Given the description of an element on the screen output the (x, y) to click on. 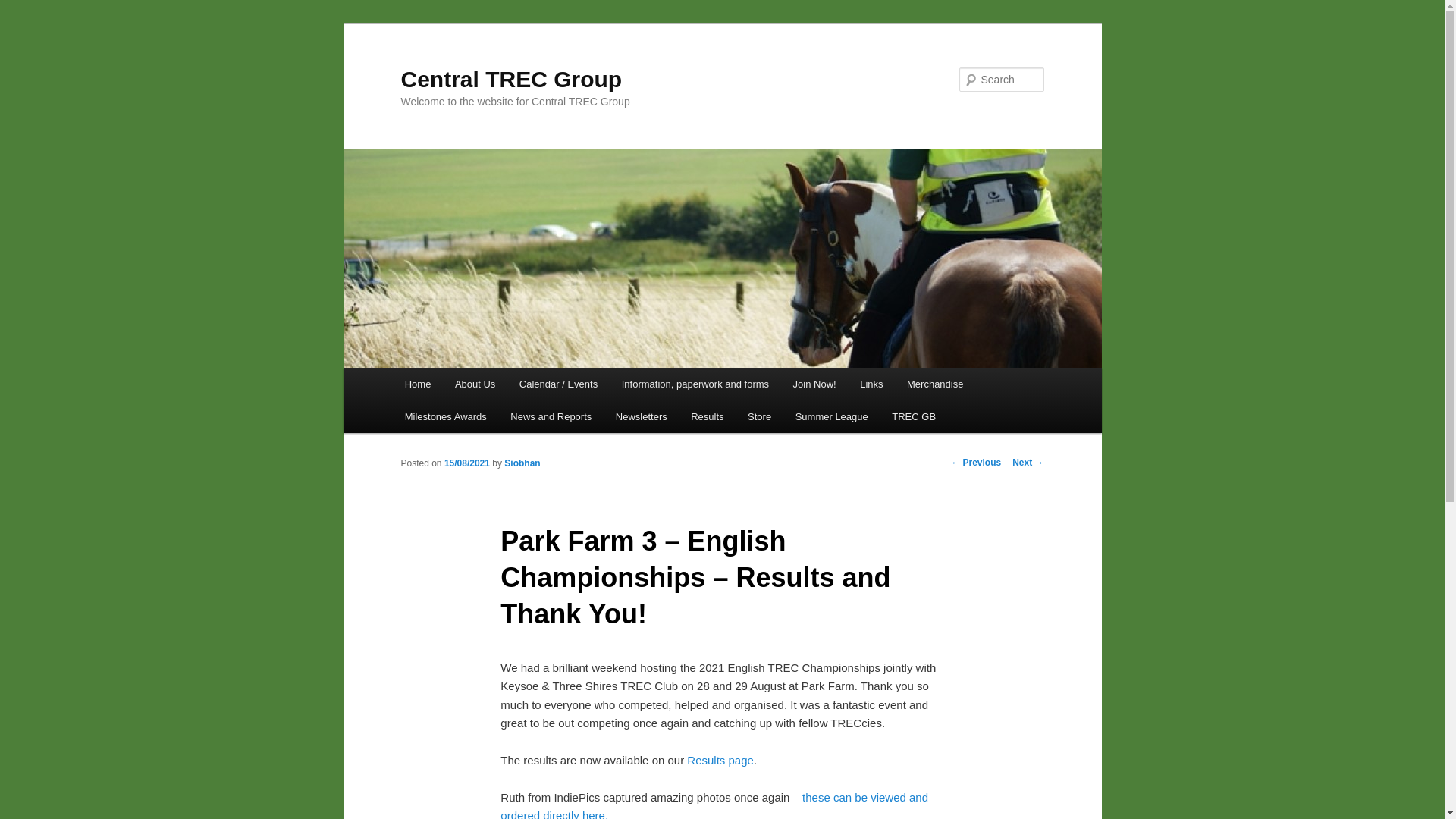
TREC GB (913, 416)
Summer League (831, 416)
Join Now! (814, 383)
Results page (719, 759)
Store (759, 416)
Merchandise (935, 383)
6:03 pm (466, 462)
Results (706, 416)
News and Reports (551, 416)
Newsletters (641, 416)
Home (417, 383)
Search (24, 8)
Links (871, 383)
About Us (474, 383)
